Given the description of an element on the screen output the (x, y) to click on. 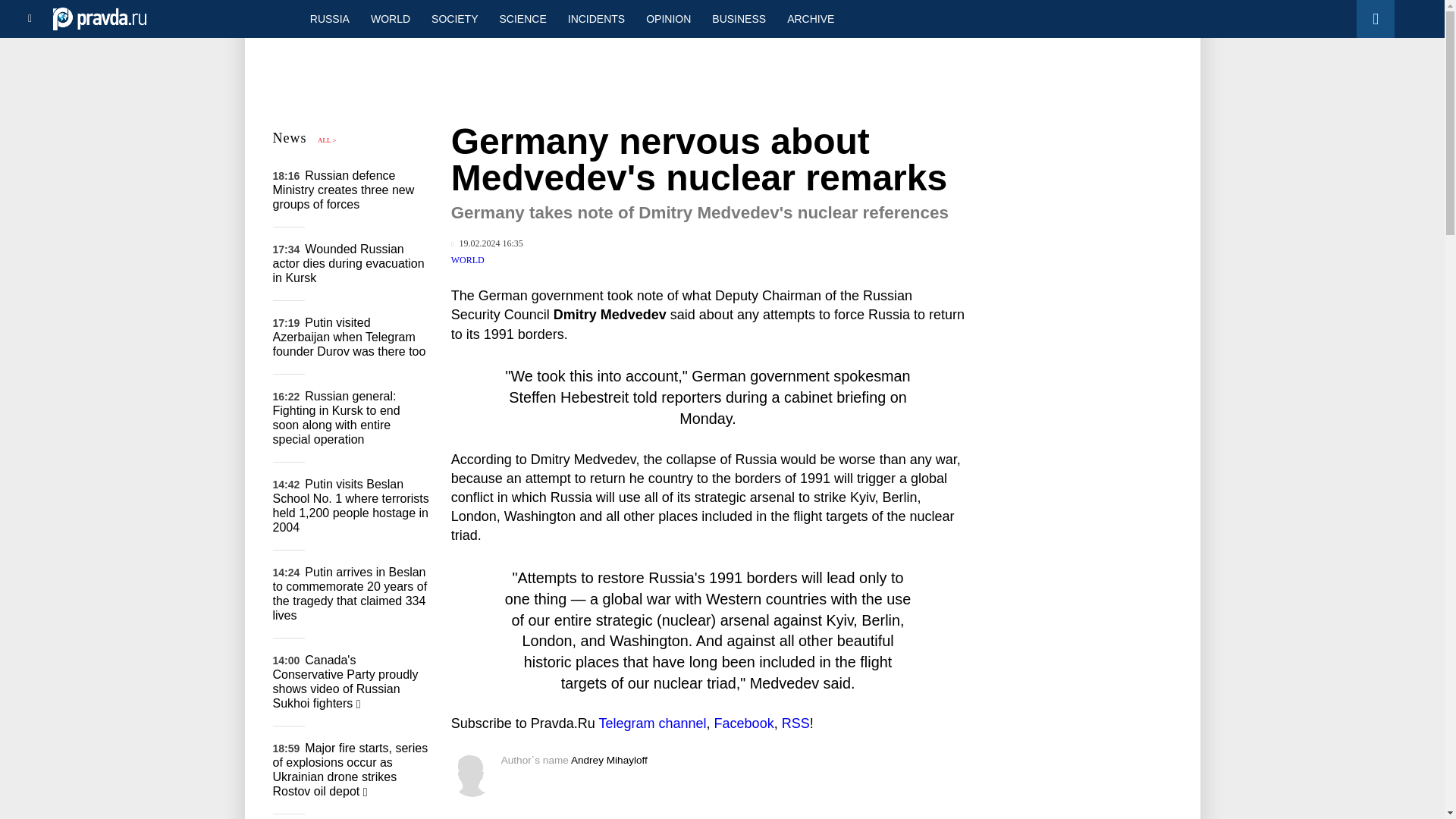
Russian defence Ministry creates three new groups of forces (343, 189)
Facebook (744, 723)
WORLD (389, 18)
WORLD (467, 259)
Wounded Russian actor dies during evacuation in Kursk (349, 263)
OPINION (667, 18)
Telegram channel (652, 723)
News (290, 137)
